Given the description of an element on the screen output the (x, y) to click on. 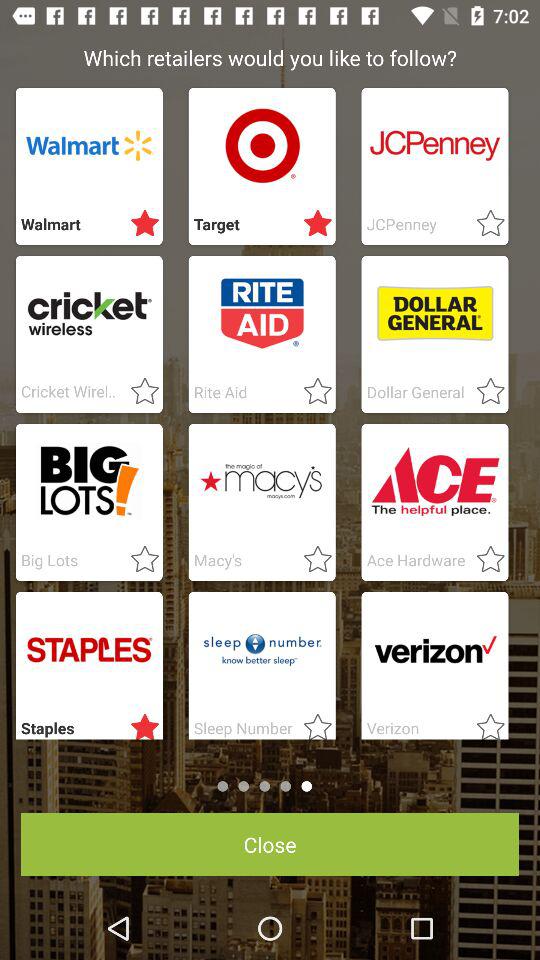
toggle choice (312, 723)
